Given the description of an element on the screen output the (x, y) to click on. 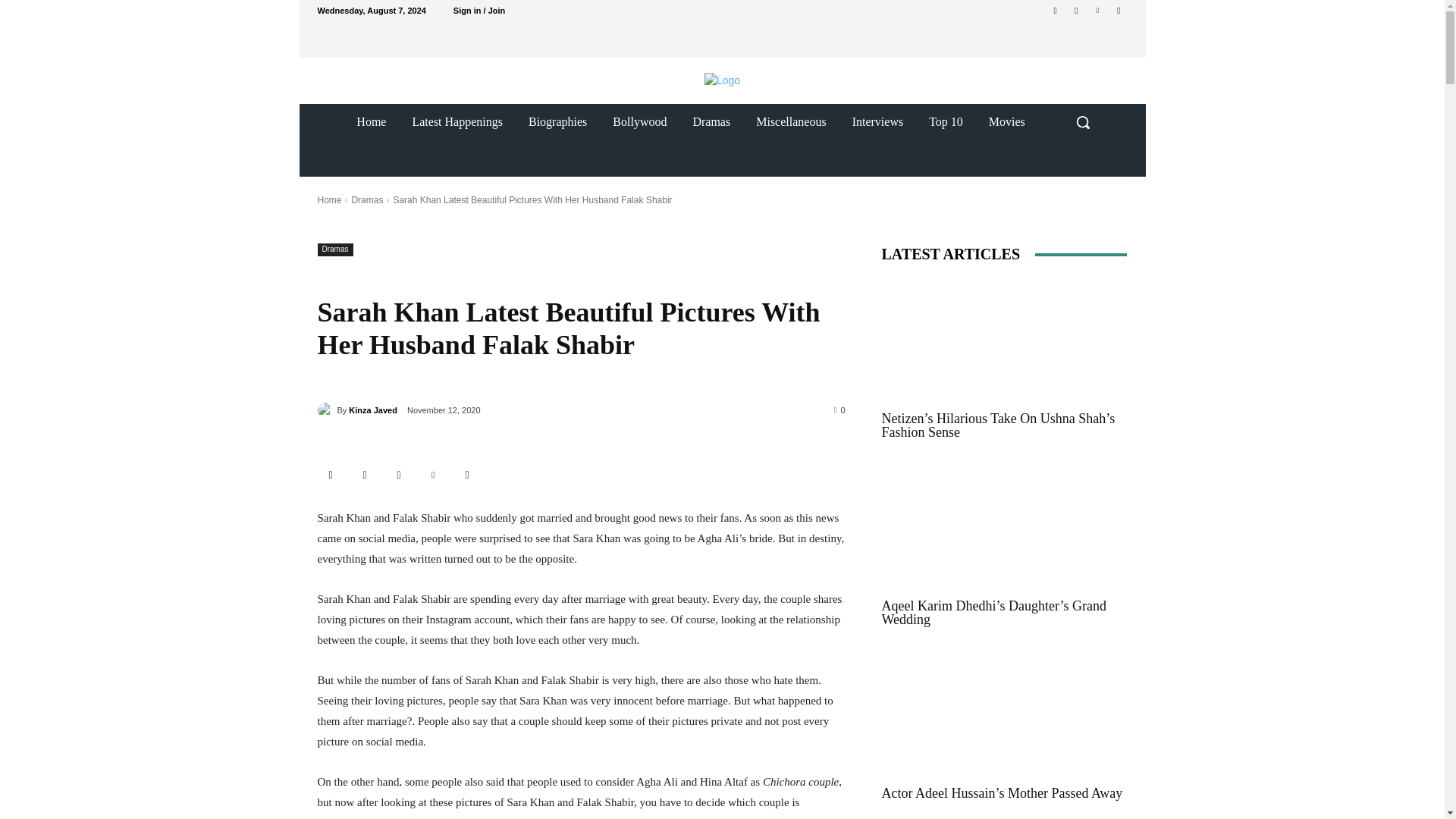
Interviews (878, 122)
Home (370, 122)
Home (328, 199)
Share (330, 474)
Top 10 (945, 122)
Miscellaneous (790, 122)
Bollywood (639, 122)
Dramas (710, 122)
Facebook (365, 474)
Dramas (366, 199)
Pinterest (1097, 9)
Latest Happenings (456, 122)
Kinza Javed (326, 409)
0 (839, 409)
Instagram (1075, 9)
